Given the description of an element on the screen output the (x, y) to click on. 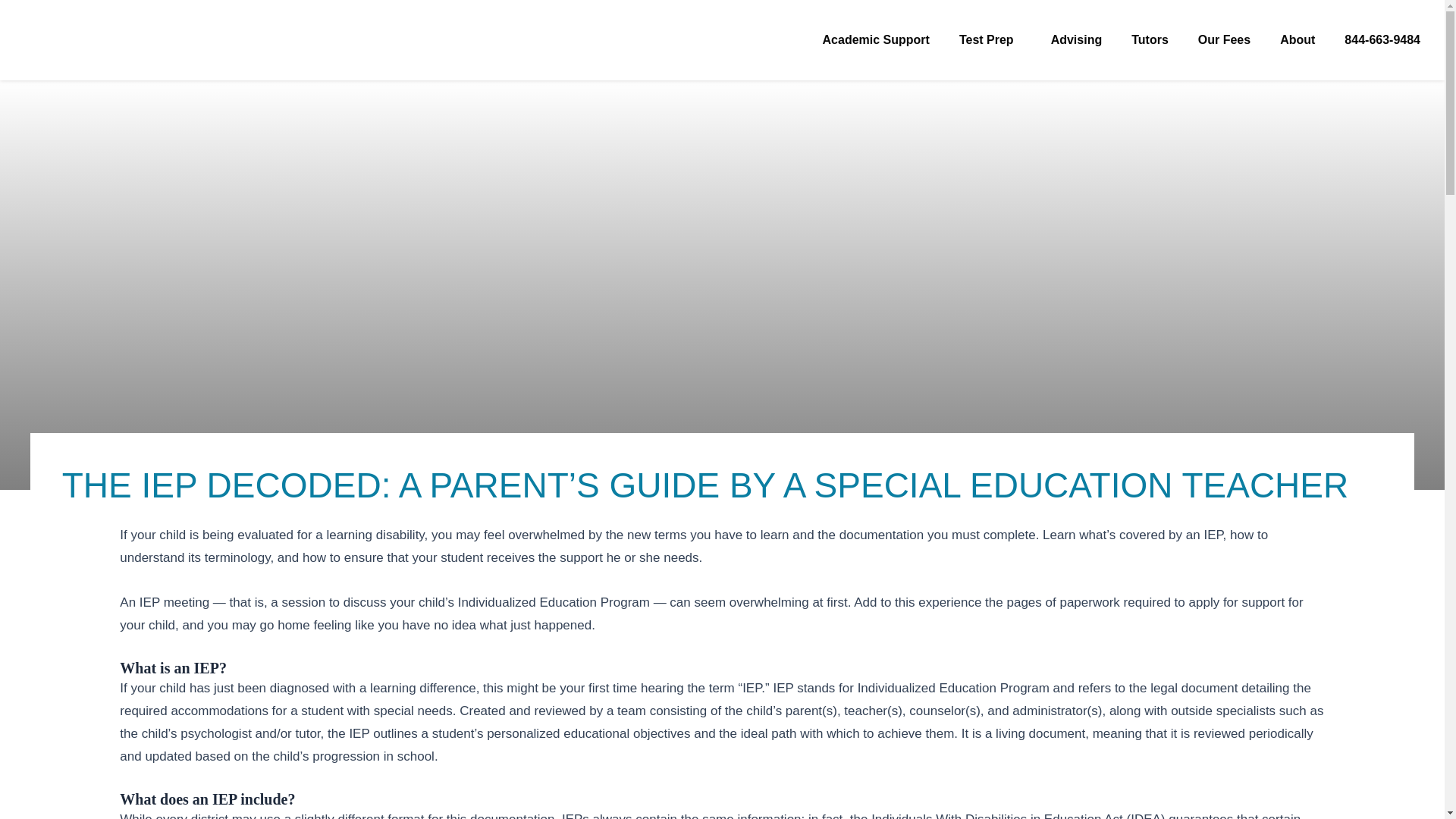
Advising (1077, 40)
Our Fees (1224, 40)
Academic Support (876, 40)
Tutors (1149, 40)
About (1297, 40)
844-663-9484 (1382, 40)
Test Prep (990, 40)
